Given the description of an element on the screen output the (x, y) to click on. 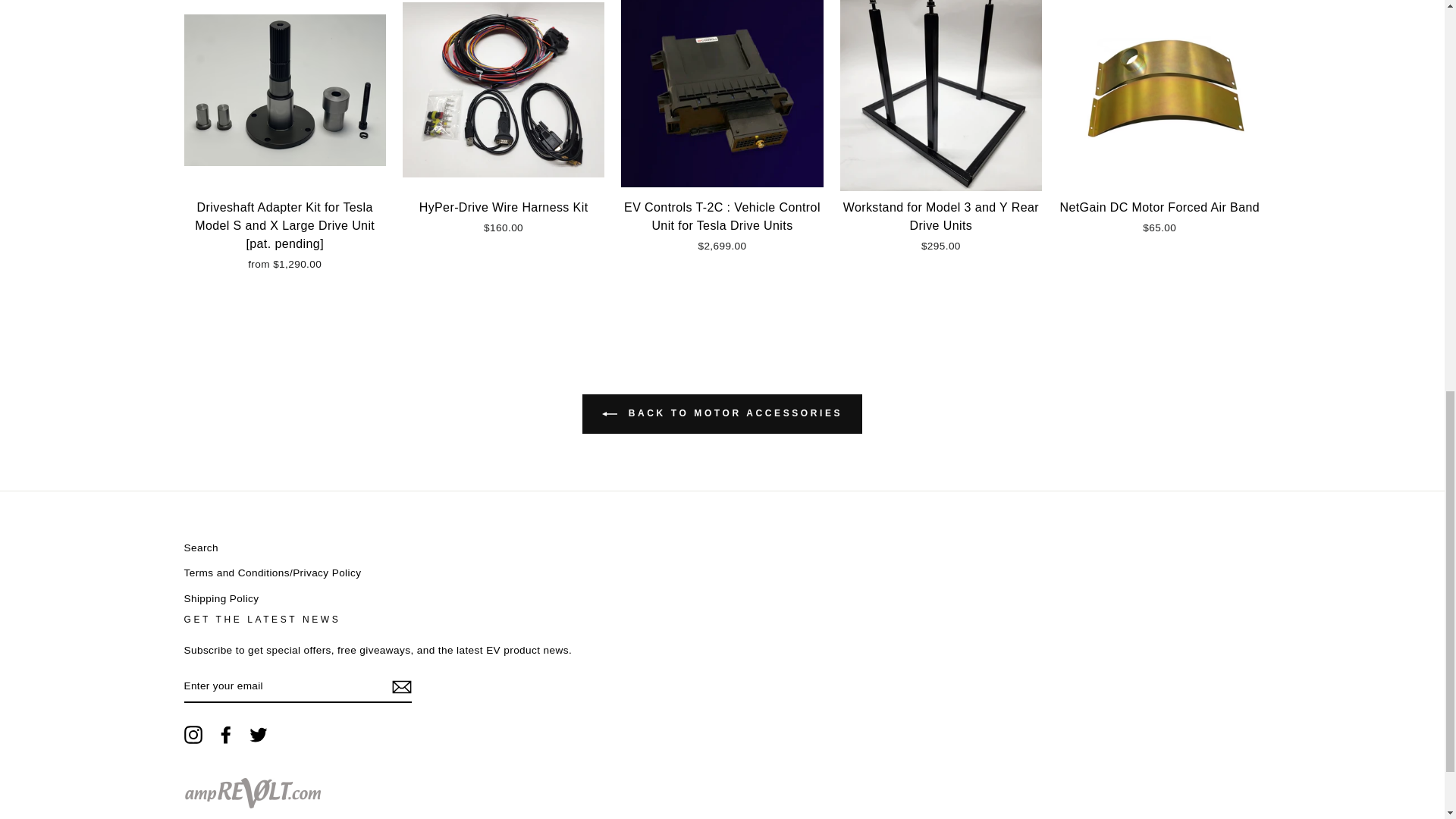
ampREVOLT on Facebook (225, 734)
ampREVOLT on Twitter (257, 734)
ampREVOLT on Instagram (192, 734)
